Given the description of an element on the screen output the (x, y) to click on. 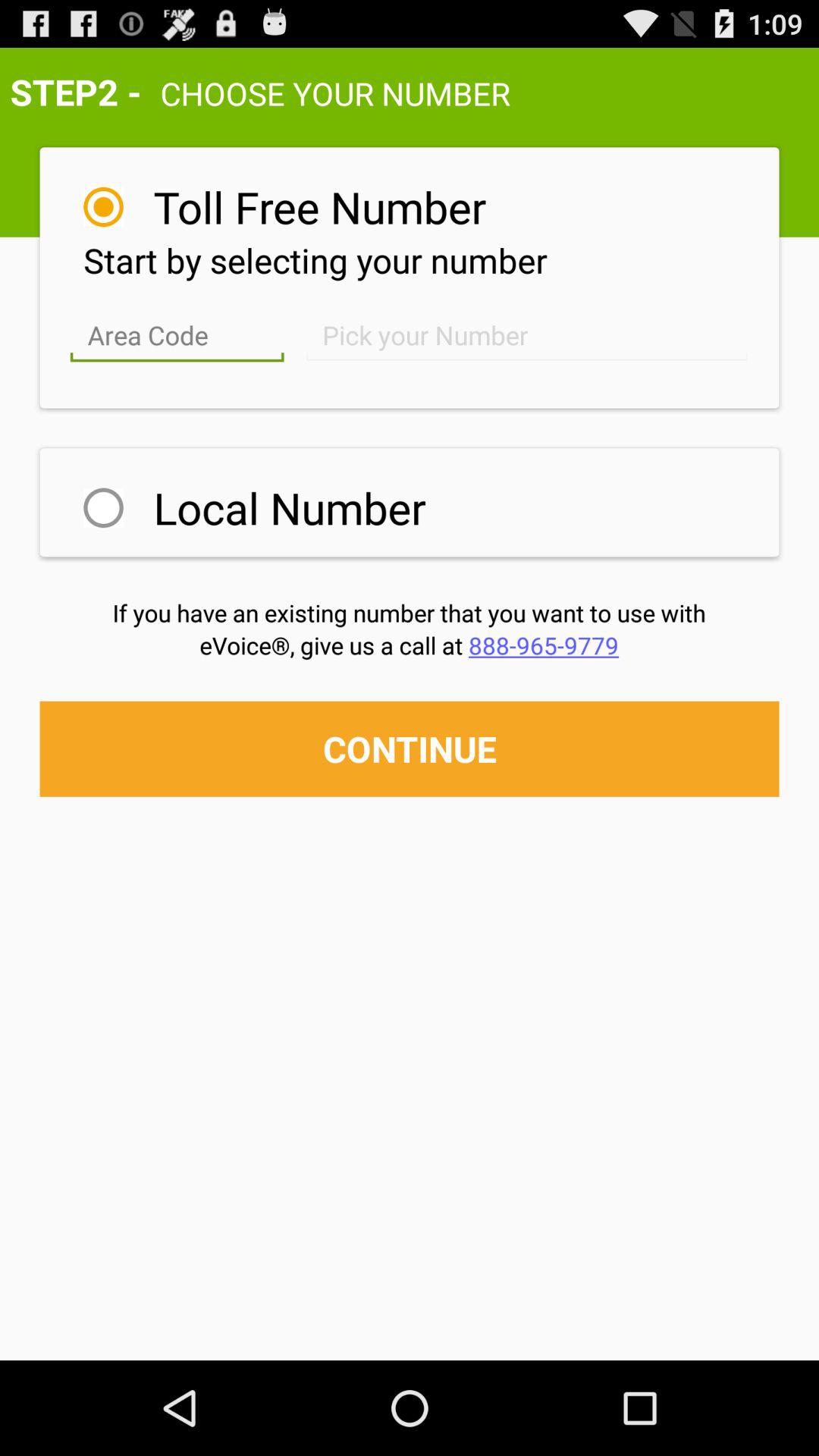
turn on icon next to local number (103, 507)
